Given the description of an element on the screen output the (x, y) to click on. 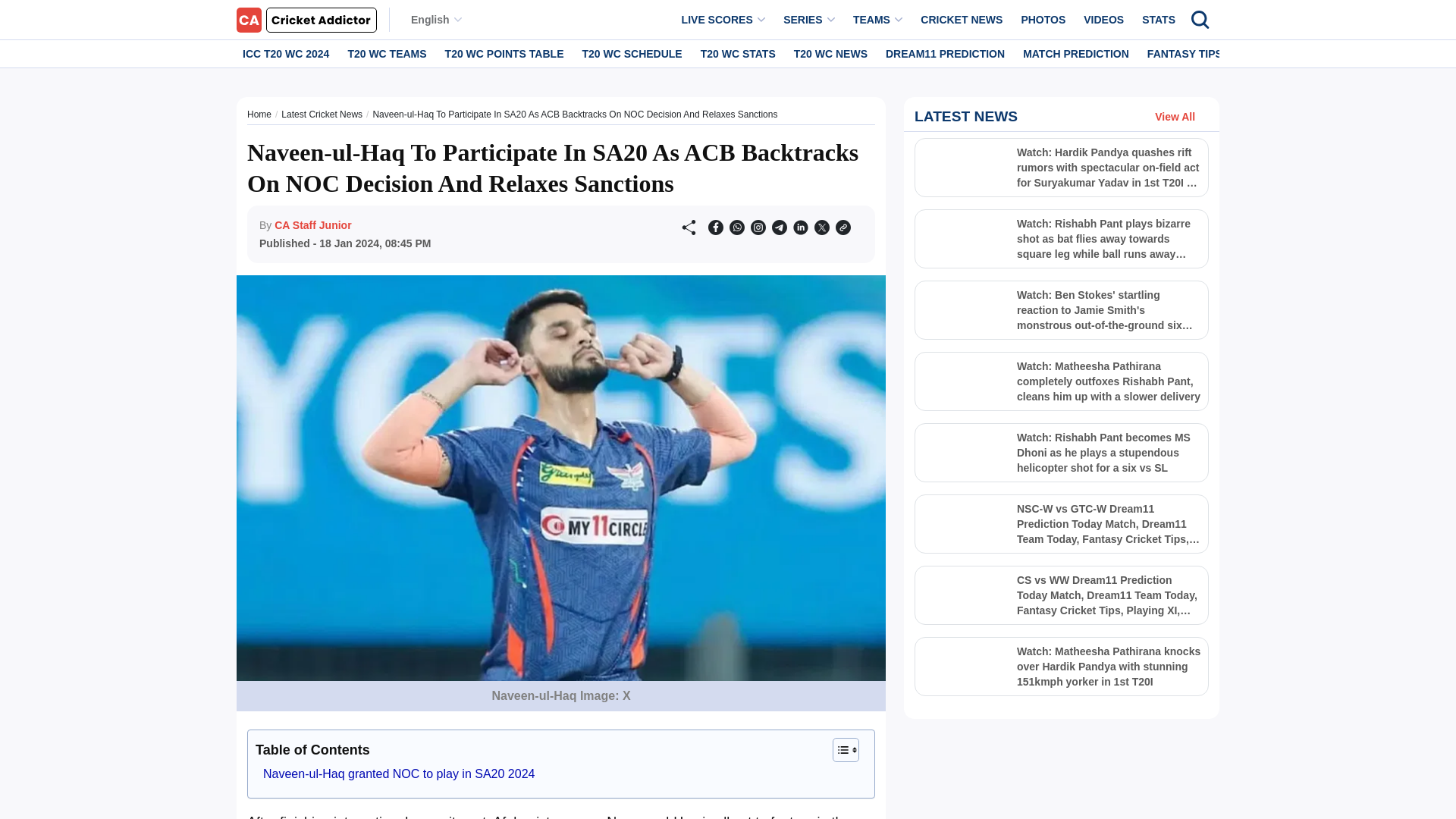
STATS (1157, 19)
TEAMS (877, 19)
SERIES (809, 19)
VIDEOS (1103, 19)
T20 WC TEAMS (386, 53)
ICC T20 WC 2024 (284, 53)
English (435, 19)
T20 WC POINTS TABLE (504, 53)
Naveen-ul-Haq granted NOC to play in SA20 2024 (398, 773)
PHOTOS (1042, 19)
LIVE SCORES (723, 19)
CRICKET NEWS (961, 19)
